Given the description of an element on the screen output the (x, y) to click on. 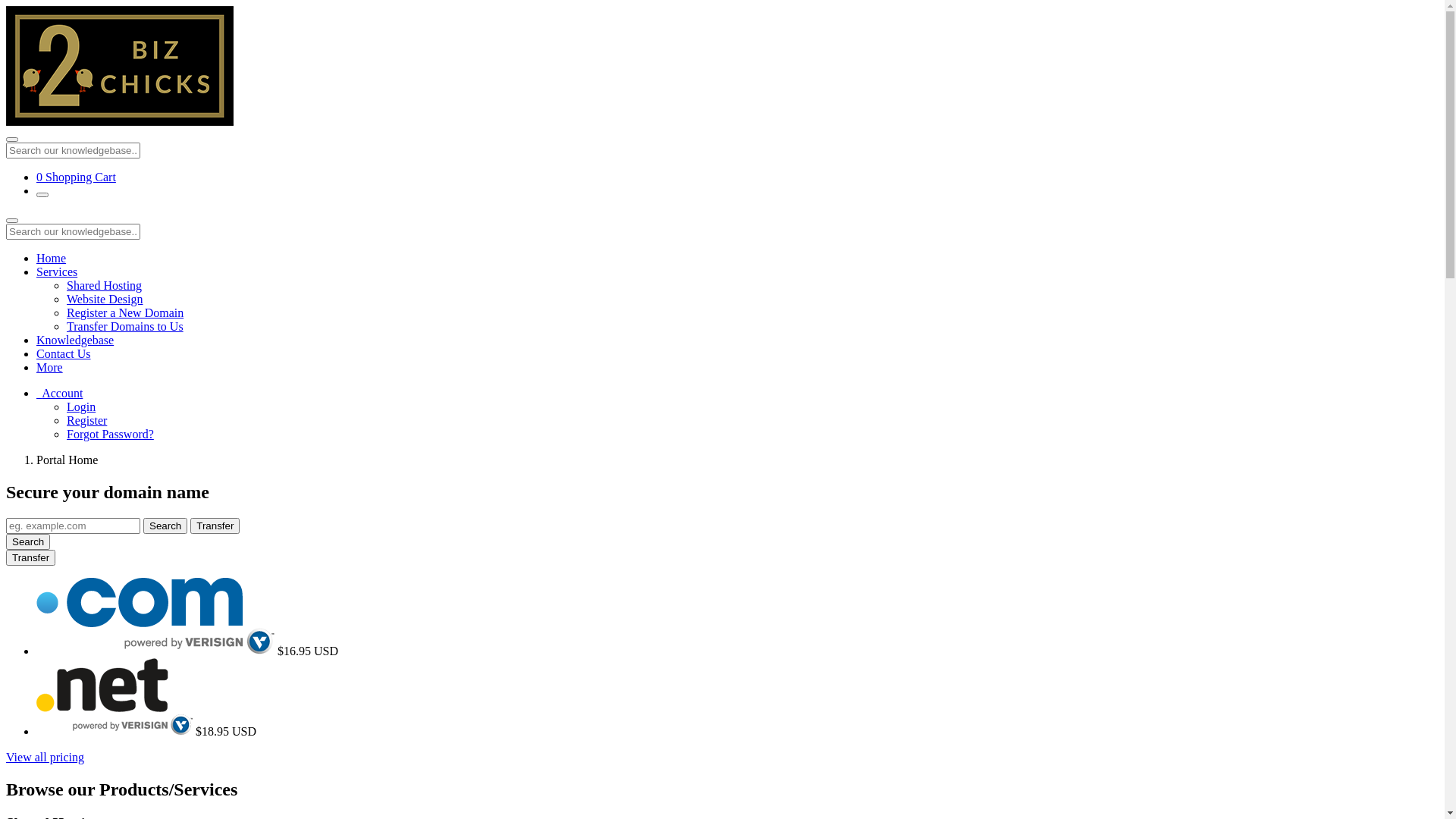
Transfer Element type: text (30, 557)
View all pricing Element type: text (45, 756)
Transfer Element type: text (214, 525)
Login Element type: text (80, 406)
Forgot Password? Element type: text (109, 433)
More Element type: text (49, 366)
Website Design Element type: text (104, 298)
Home Element type: text (50, 257)
Contact Us Element type: text (63, 353)
Shared Hosting Element type: text (103, 285)
  Account Element type: text (59, 392)
Services Element type: text (56, 271)
Search Element type: text (165, 525)
Search Element type: text (28, 541)
Knowledgebase Element type: text (74, 339)
Register a New Domain Element type: text (124, 312)
Transfer Domains to Us Element type: text (124, 326)
Register Element type: text (86, 420)
0 Shopping Cart Element type: text (76, 176)
